Given the description of an element on the screen output the (x, y) to click on. 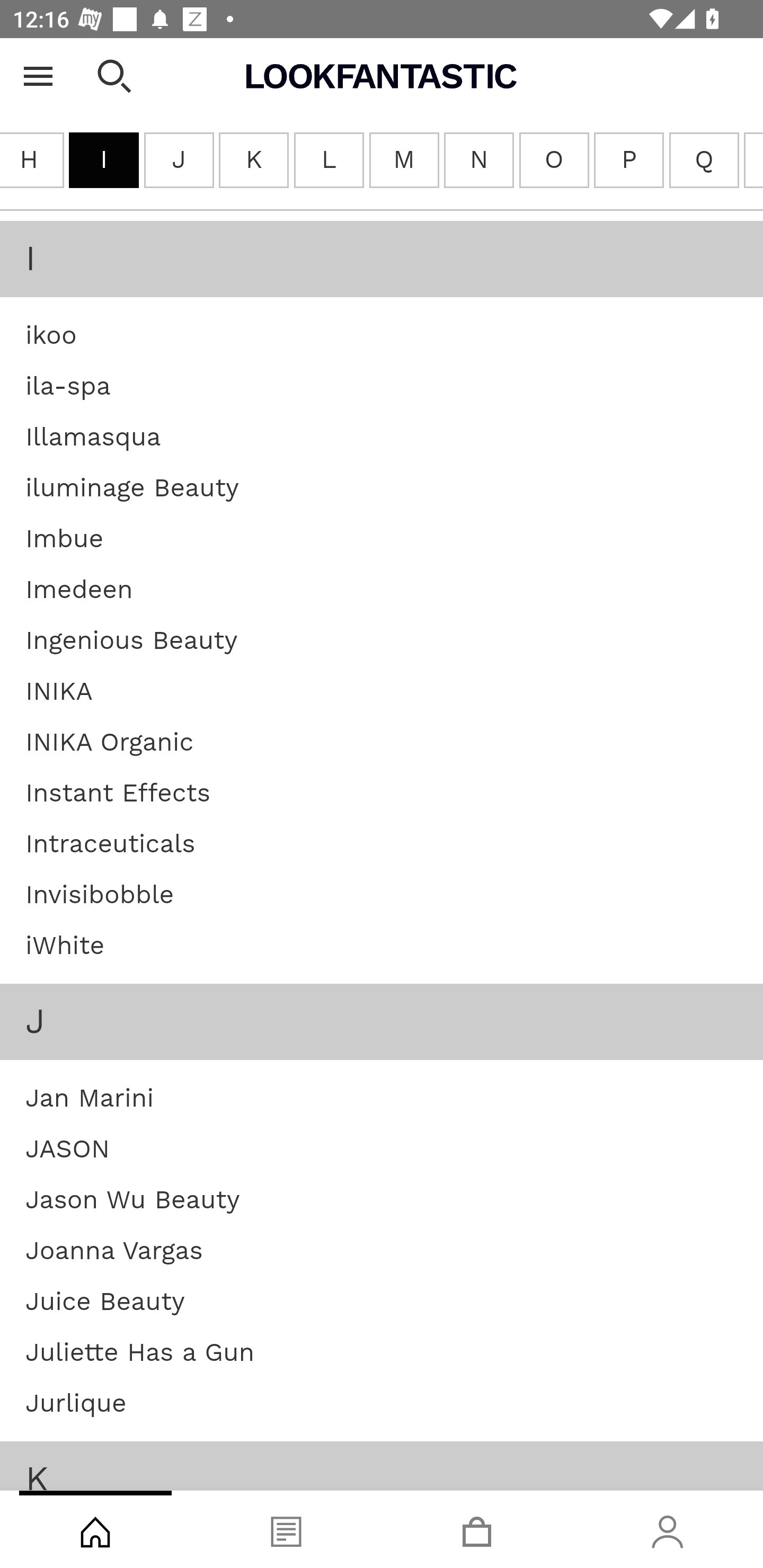
H (32, 160)
I (103, 160)
J (178, 160)
K (253, 160)
L (327, 160)
M (404, 160)
N (479, 160)
O (553, 160)
P (628, 160)
Q (703, 160)
ikoo (51, 336)
ila-spa (68, 386)
Illamasqua (93, 438)
iluminage Beauty (132, 488)
Imbue (65, 539)
Imedeen (79, 590)
Ingenious Beauty (131, 641)
INIKA (59, 692)
INIKA Organic (109, 742)
Instant Effects (118, 794)
Intraceuticals (110, 844)
Invisibobble (99, 895)
iWhite (65, 946)
Jan Marini (89, 1098)
JASON (68, 1150)
Jason Wu Beauty (132, 1200)
Joanna Vargas (114, 1252)
Juice Beauty (105, 1302)
Juliette Has a Gun (140, 1353)
Jurlique (76, 1404)
Shop, tab, 1 of 4 (95, 1529)
Blog, tab, 2 of 4 (285, 1529)
Basket, tab, 3 of 4 (476, 1529)
Account, tab, 4 of 4 (667, 1529)
